Given the description of an element on the screen output the (x, y) to click on. 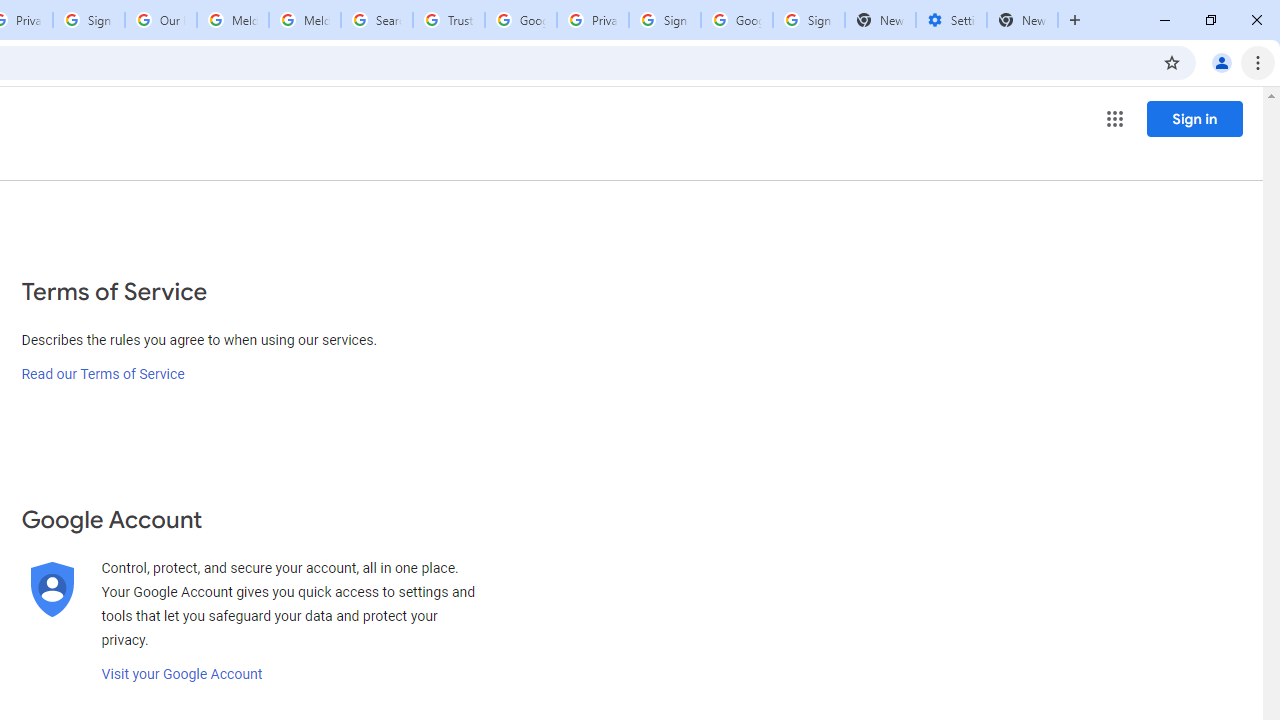
Sign in - Google Accounts (808, 20)
Trusted Information and Content - Google Safety Center (449, 20)
Sign in - Google Accounts (88, 20)
